Given the description of an element on the screen output the (x, y) to click on. 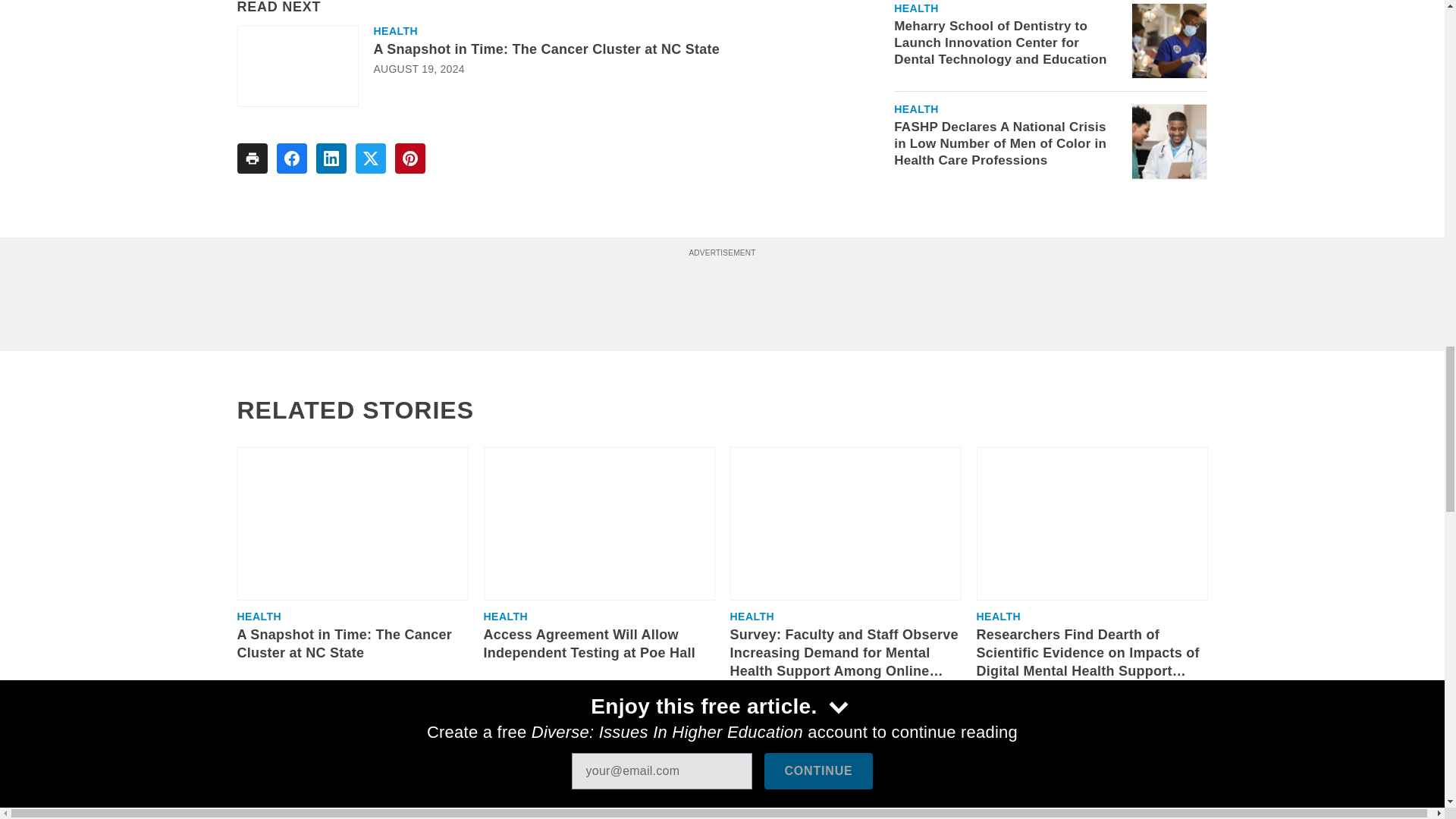
Share To print (250, 158)
Health (394, 30)
Share To facebook (290, 158)
